Given the description of an element on the screen output the (x, y) to click on. 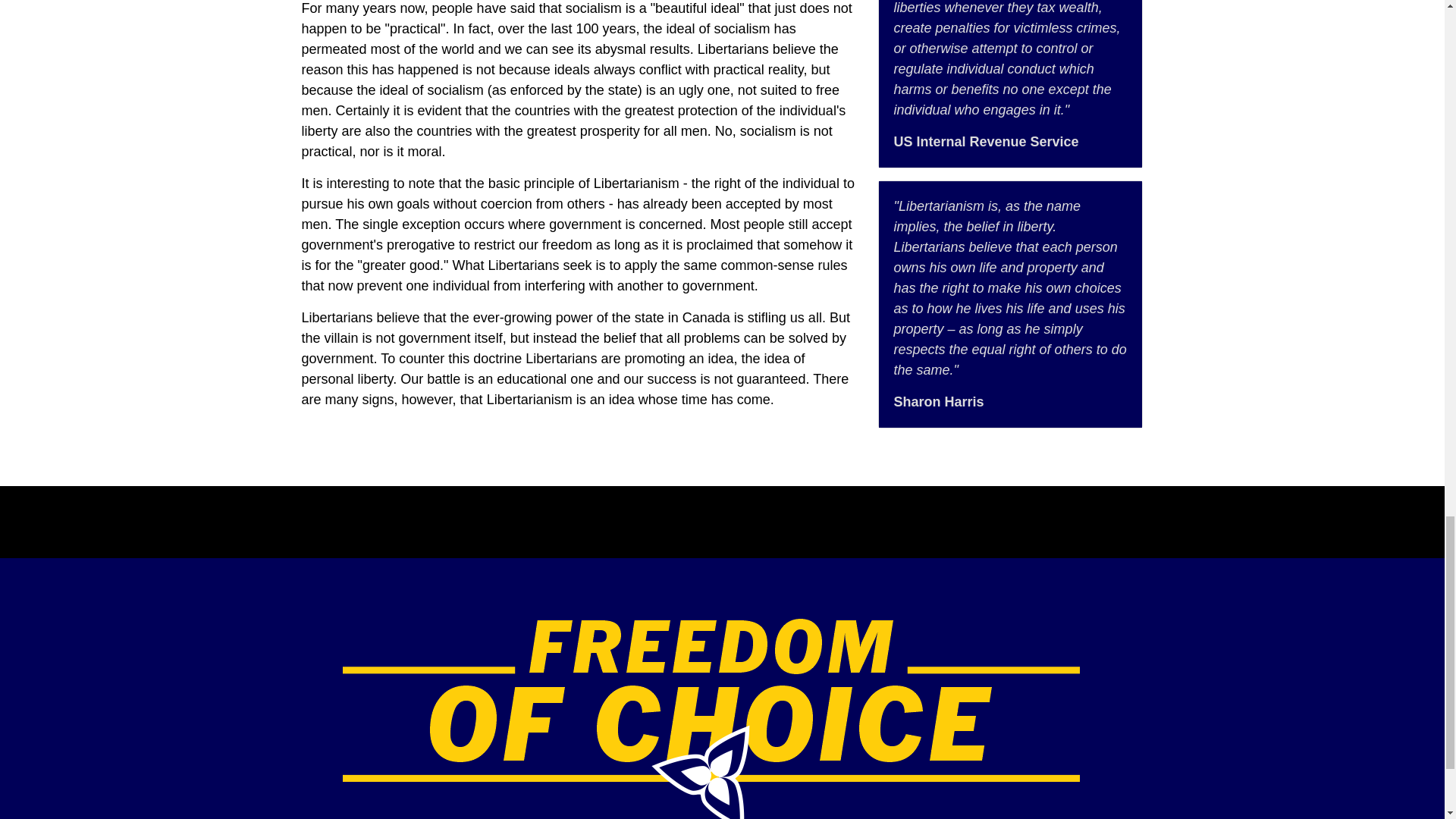
Freedom of Choice Platform (711, 723)
